Given the description of an element on the screen output the (x, y) to click on. 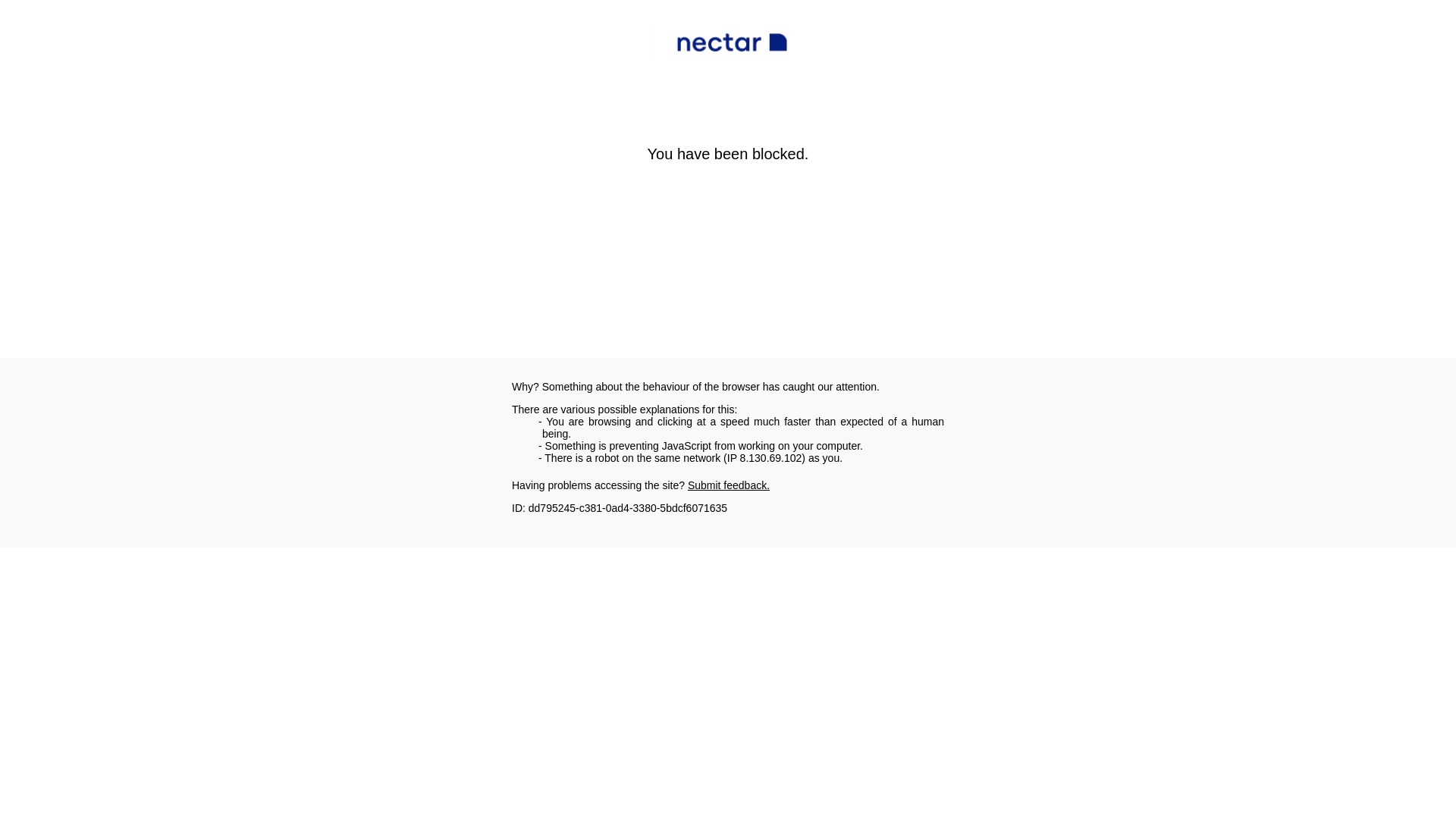
Mattress Sizes (305, 464)
Mattress Sizes (380, 247)
Blog (314, 247)
Home (273, 247)
Size Guides (400, 464)
